Given the description of an element on the screen output the (x, y) to click on. 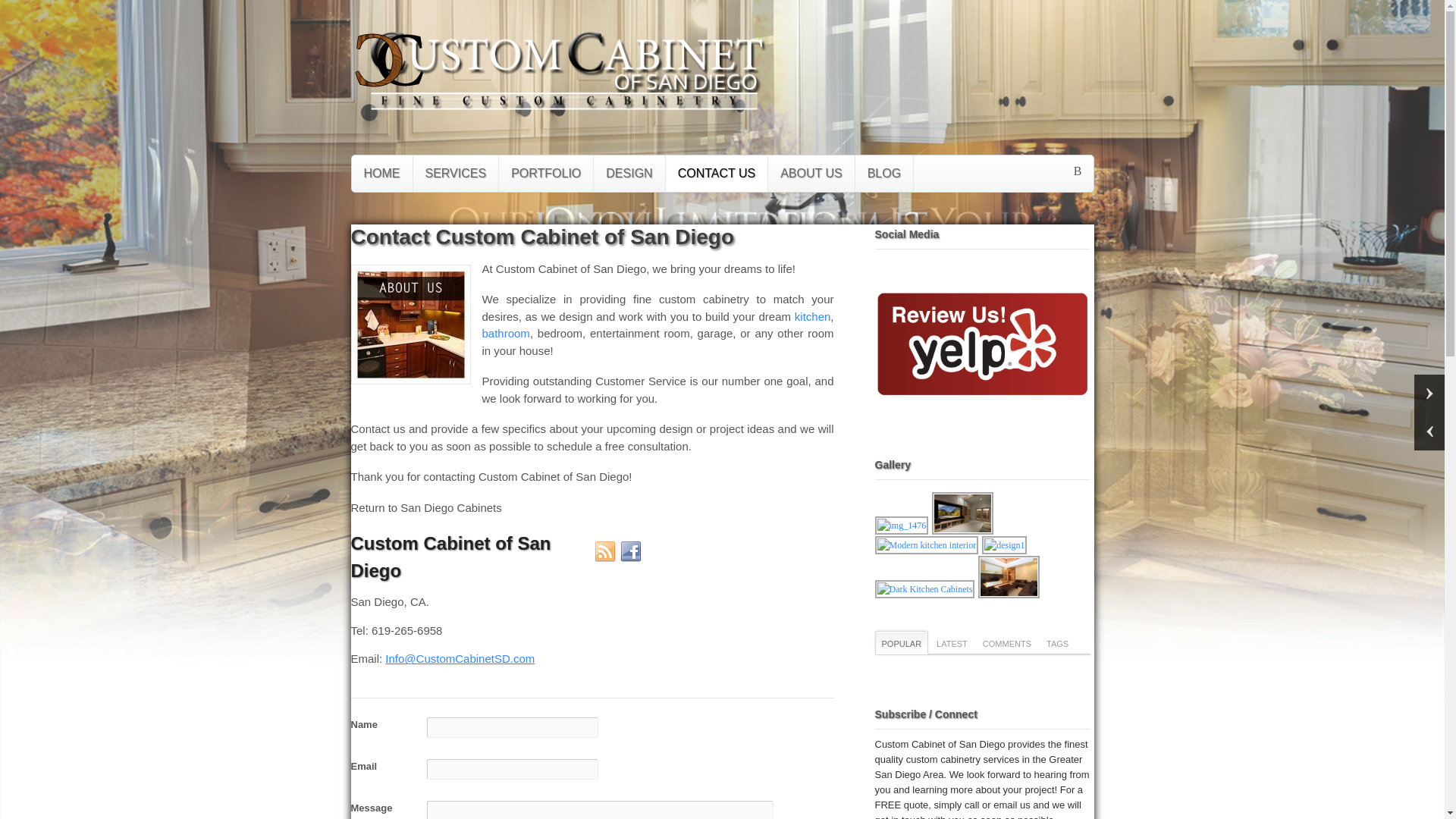
ABOUT US (811, 173)
POPULAR (901, 642)
living room (1008, 577)
Modern kitchen interior (926, 545)
Dark Kitchen Cabinets (925, 588)
design1 (1003, 545)
Modern luxury kitchen interior with granite countertop (927, 548)
LATEST (952, 642)
SERVICES (454, 173)
Facebook (631, 551)
BLOG (884, 173)
COMMENTS (1006, 642)
San Diego Premier Custom Cabinetry (388, 90)
PORTFOLIO (545, 173)
HOME (382, 173)
